Given the description of an element on the screen output the (x, y) to click on. 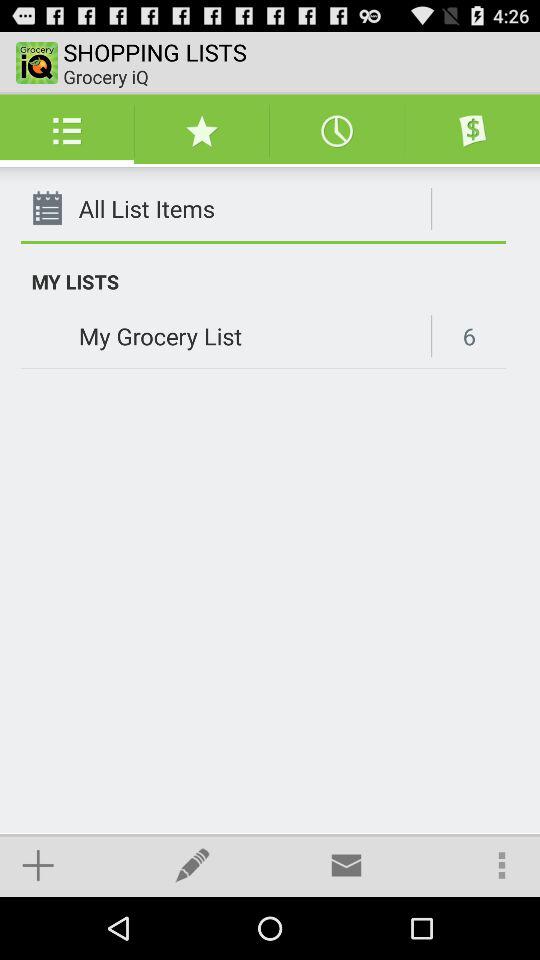
click on message icon (346, 865)
